Given the description of an element on the screen output the (x, y) to click on. 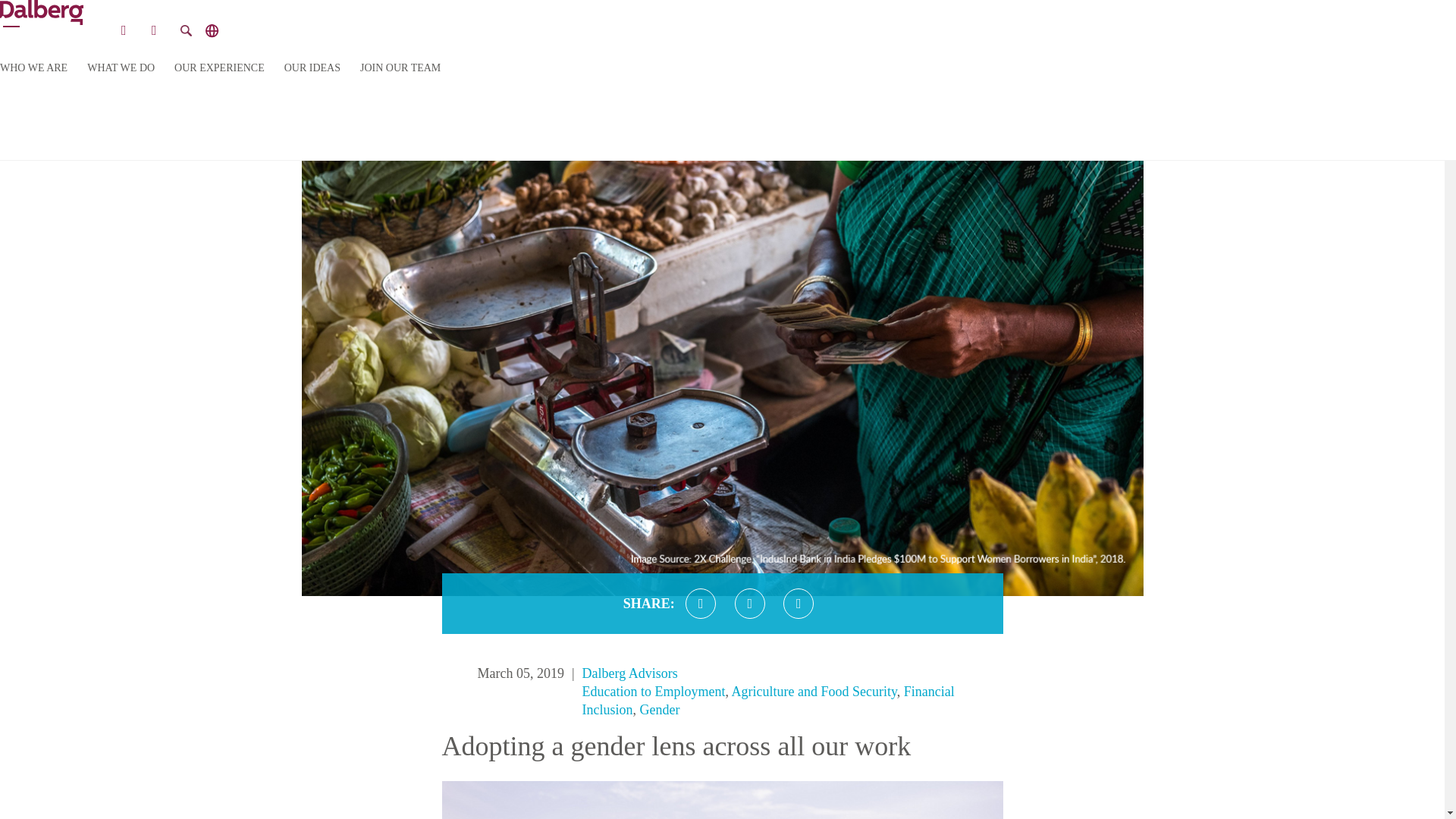
WHAT WE DO (120, 67)
OUR EXPERIENCE (219, 67)
OUR IDEAS (311, 67)
Dalberg Advisors (630, 672)
WHO WE ARE (33, 67)
JOIN OUR TEAM (400, 67)
